Given the description of an element on the screen output the (x, y) to click on. 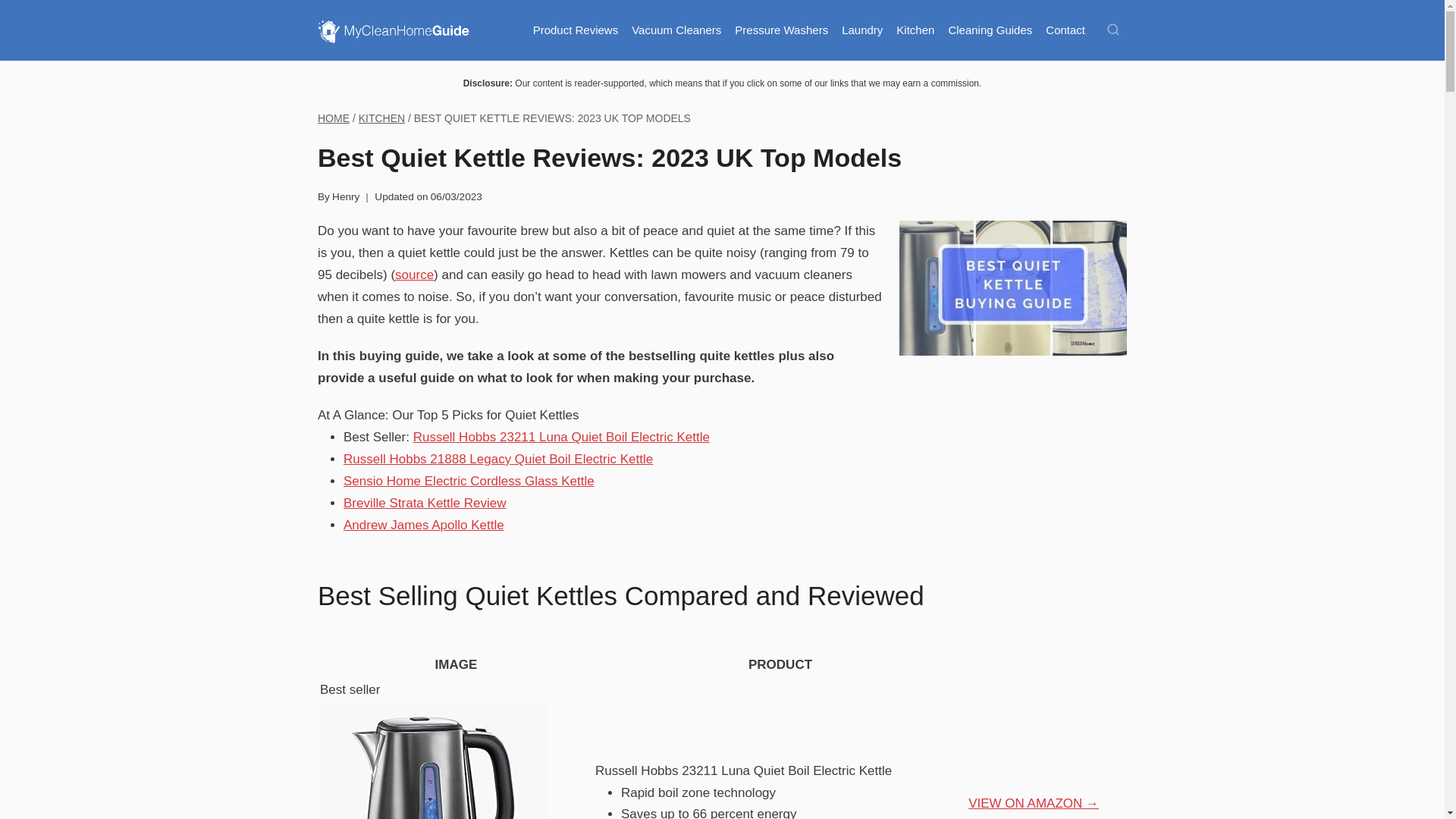
Kitchen (914, 29)
Vacuum Cleaners (676, 29)
Henry (345, 196)
Cleaning Guides (989, 29)
HOME (333, 118)
Russell Hobbs 23211 Luna Quiet Boil Electric Kettle (561, 436)
Russell Hobbs 21888 Legacy Quiet Boil Electric Kettle (497, 459)
Pressure Washers (781, 29)
Breville Strata Kettle Review (424, 503)
Product Reviews (575, 29)
